Given the description of an element on the screen output the (x, y) to click on. 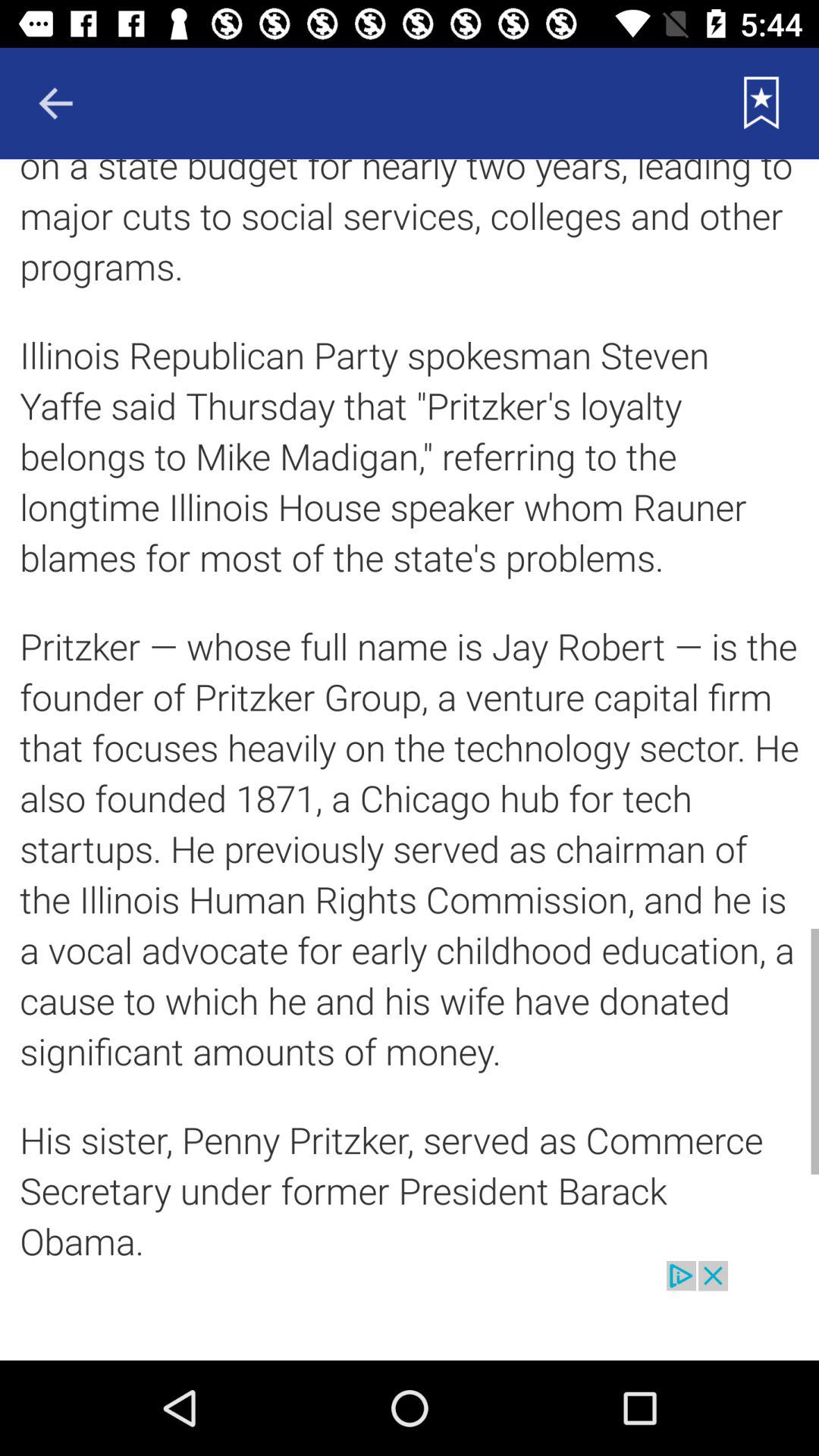
go back (55, 103)
